Given the description of an element on the screen output the (x, y) to click on. 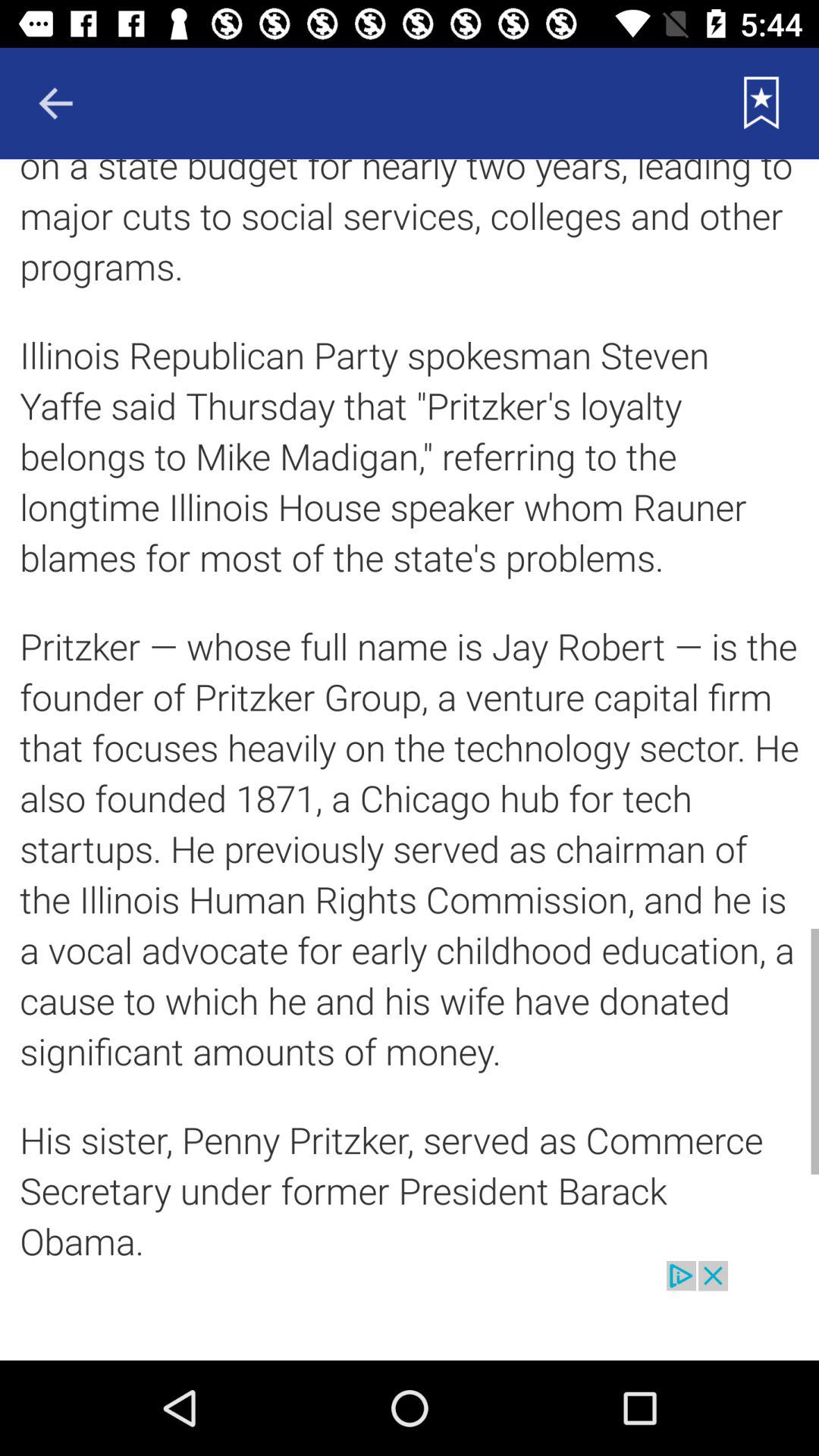
go back (55, 103)
